Given the description of an element on the screen output the (x, y) to click on. 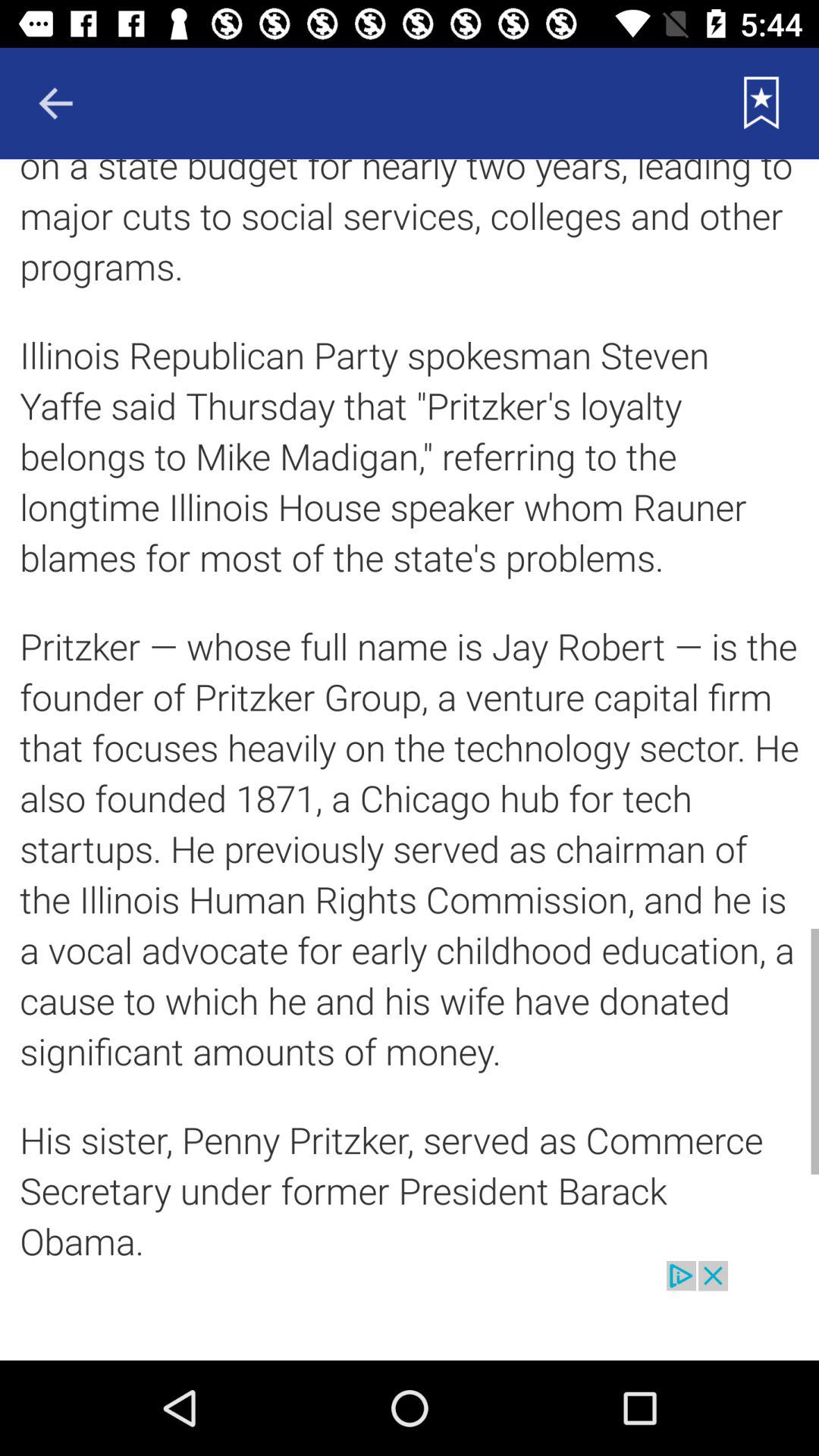
go back (55, 103)
